Given the description of an element on the screen output the (x, y) to click on. 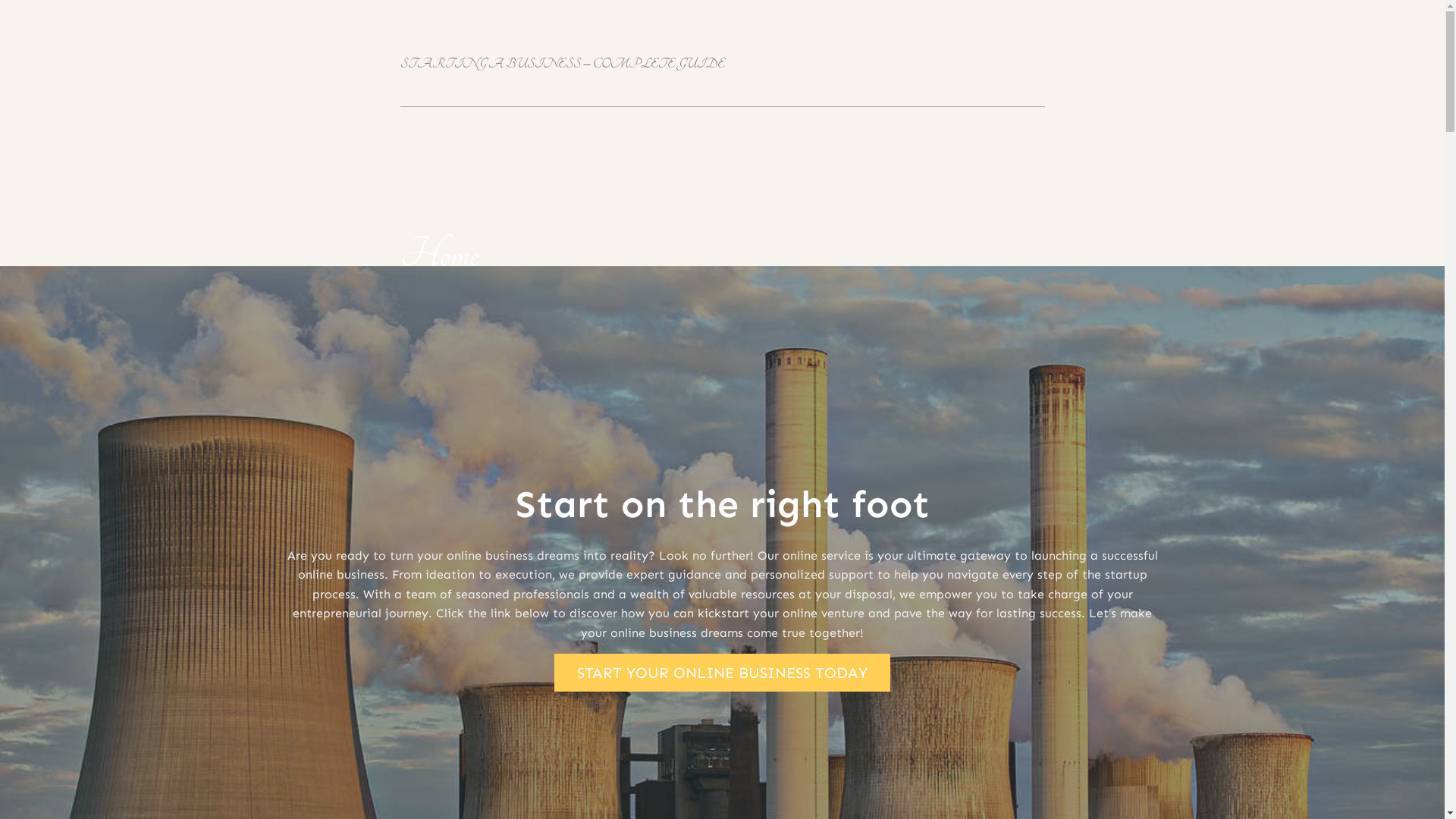
START YOUR ONLINE BUSINESS TODAY Element type: text (722, 672)
